Given the description of an element on the screen output the (x, y) to click on. 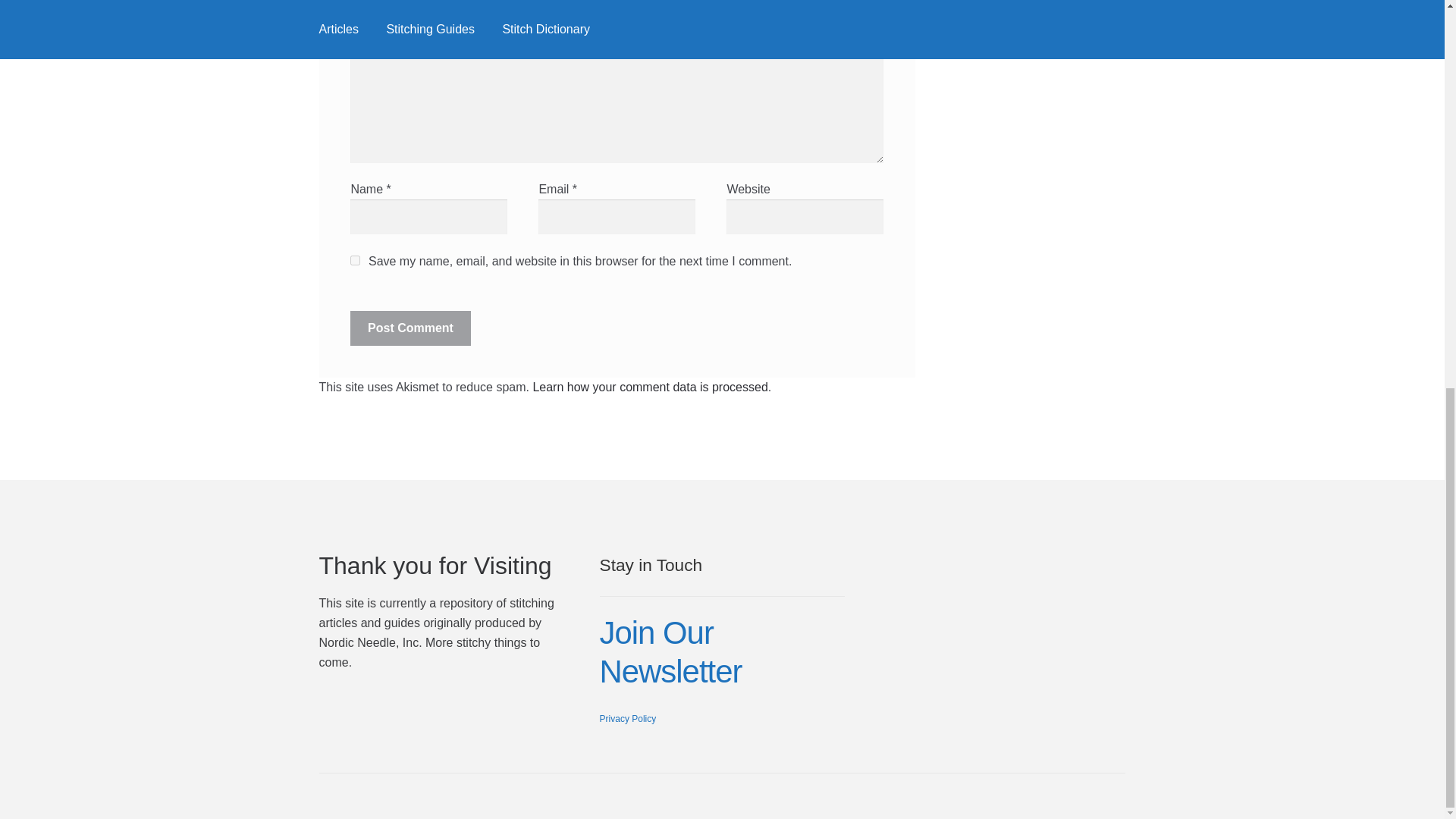
Post Comment (410, 328)
Join at NordicNeedle.com (670, 652)
Please wait until Google reCAPTCHA is loaded. (410, 328)
Learn how your comment data is processed (649, 386)
Privacy Policy (627, 718)
yes (354, 260)
Join Our Newsletter (670, 652)
Post Comment (410, 328)
